Given the description of an element on the screen output the (x, y) to click on. 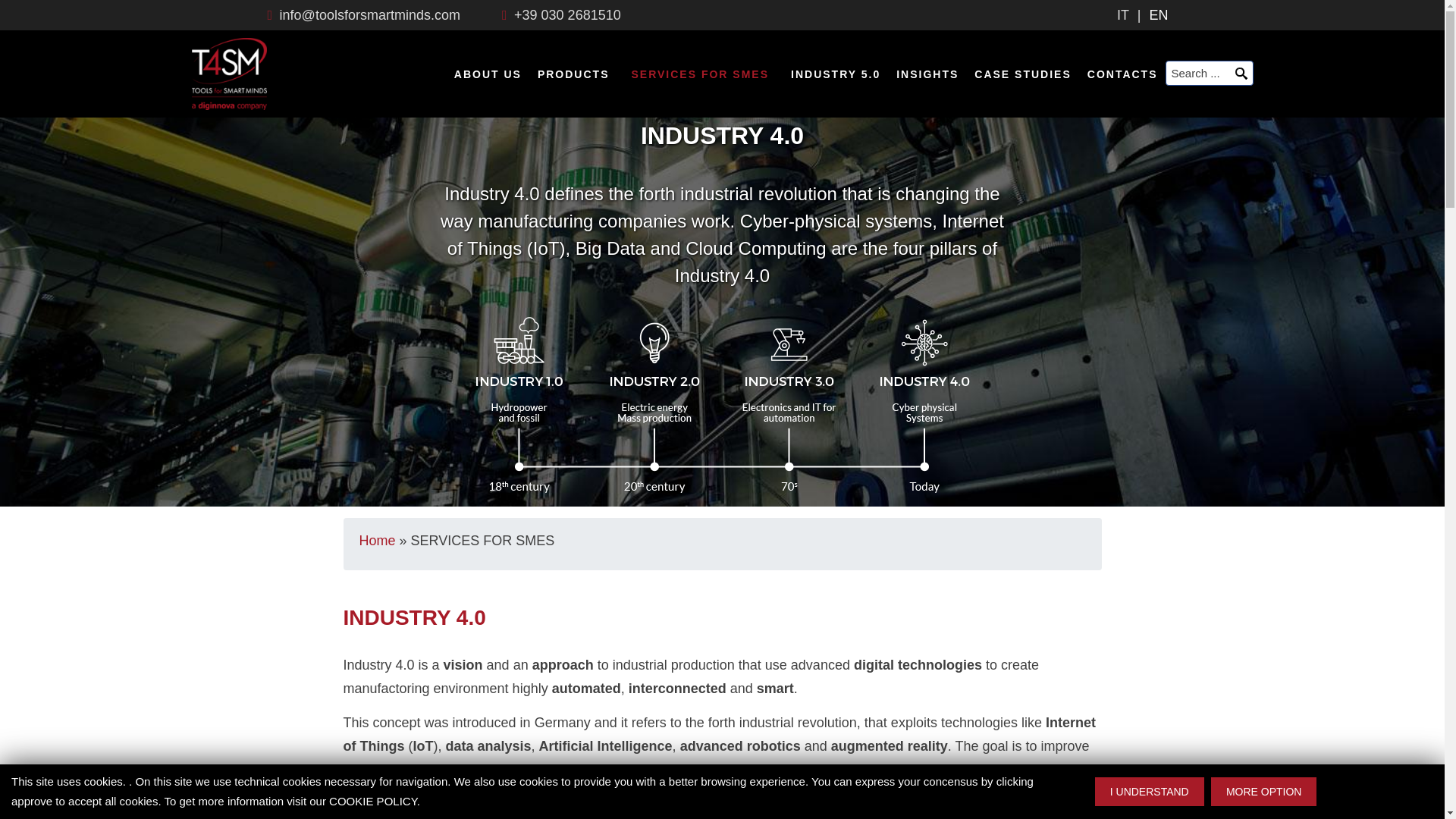
Home (377, 540)
ABOUT US (487, 54)
SERVICES FOR SMES (699, 54)
CASE STUDIES (1022, 54)
PRODUCTS (573, 54)
Search ... (1208, 72)
INDUSTRY 5.0 (835, 54)
EN (1157, 14)
CONTACTS (1122, 54)
IT (1124, 14)
INSIGHTS (927, 54)
